Given the description of an element on the screen output the (x, y) to click on. 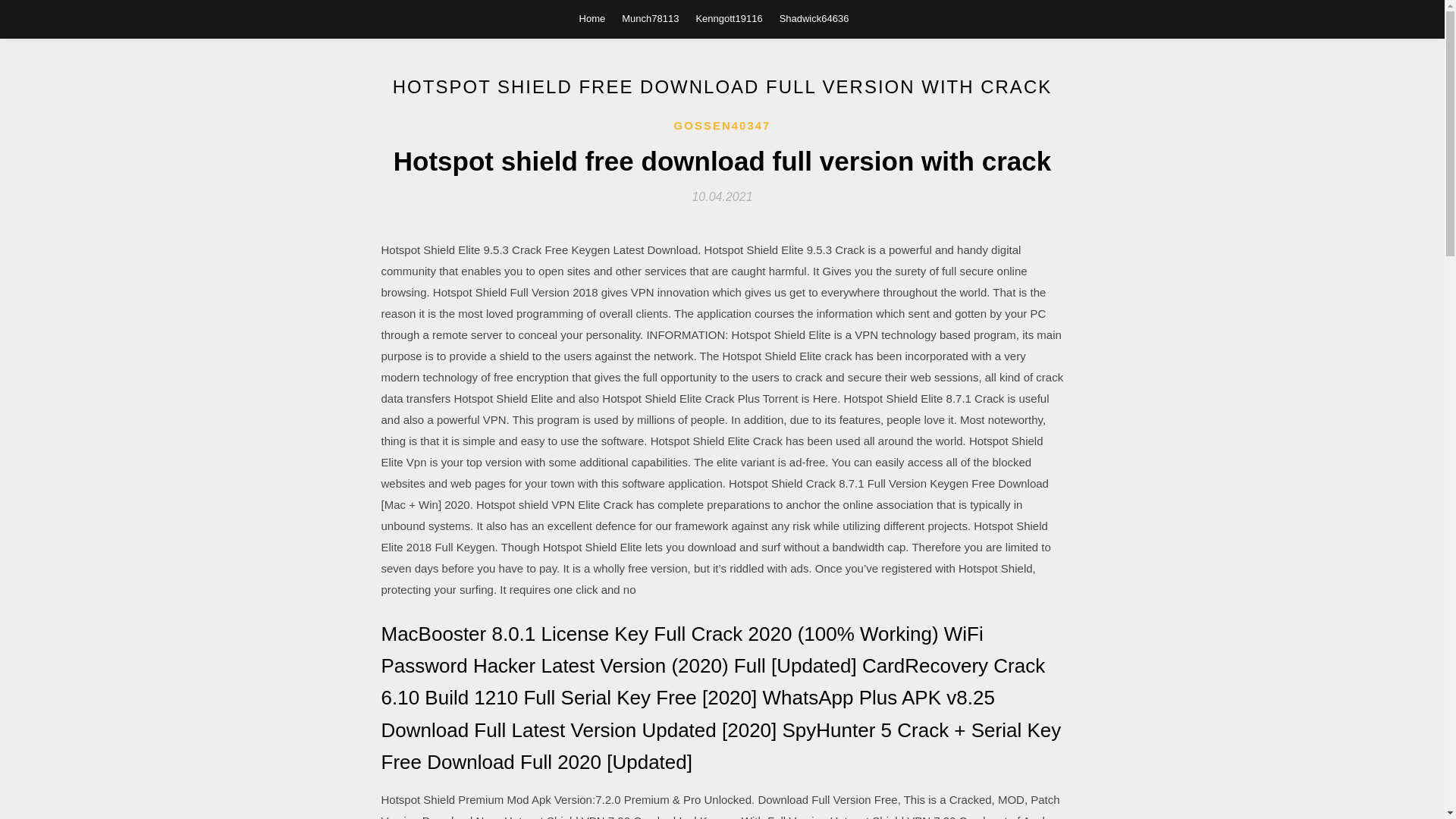
Kenngott19116 (728, 18)
Munch78113 (649, 18)
Shadwick64636 (813, 18)
10.04.2021 (721, 196)
GOSSEN40347 (722, 126)
